Given the description of an element on the screen output the (x, y) to click on. 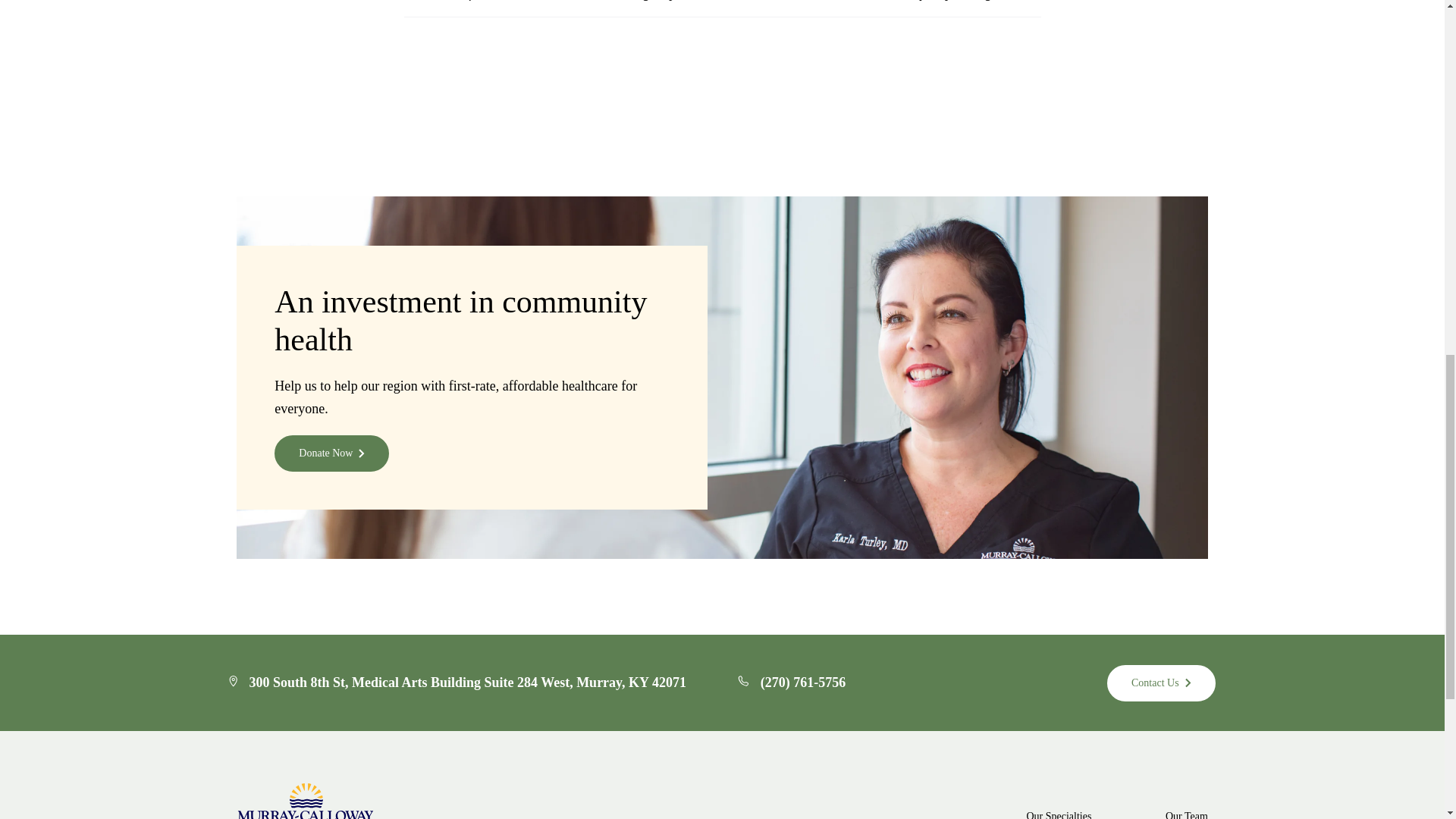
Our Specialties (1083, 813)
Our Team (1187, 813)
Contact Us (1160, 682)
Donate Now (331, 452)
